Given the description of an element on the screen output the (x, y) to click on. 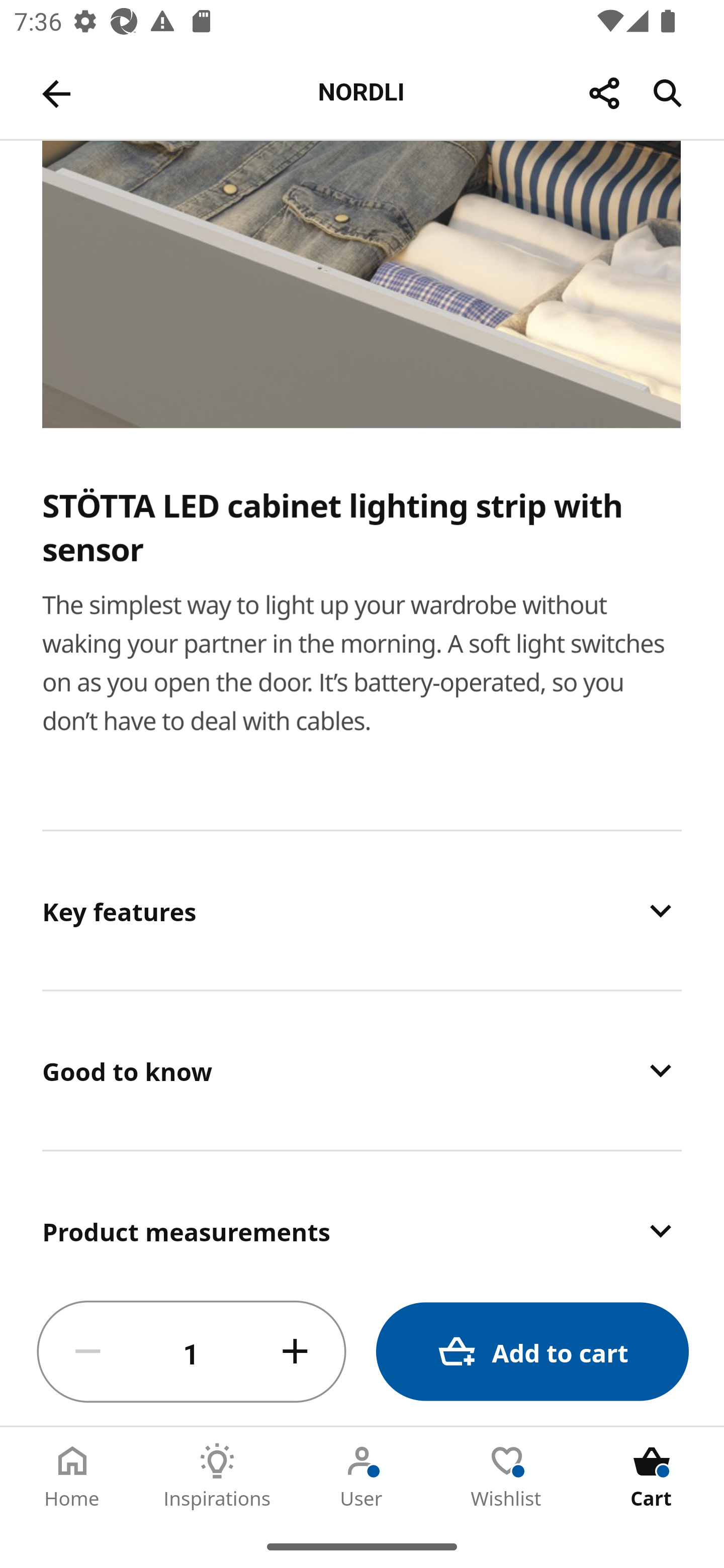
Key features (361, 909)
Good to know (361, 1069)
Product measurements (361, 1215)
Add to cart (531, 1352)
1 (191, 1352)
Home
Tab 1 of 5 (72, 1476)
Inspirations
Tab 2 of 5 (216, 1476)
User
Tab 3 of 5 (361, 1476)
Wishlist
Tab 4 of 5 (506, 1476)
Cart
Tab 5 of 5 (651, 1476)
